Given the description of an element on the screen output the (x, y) to click on. 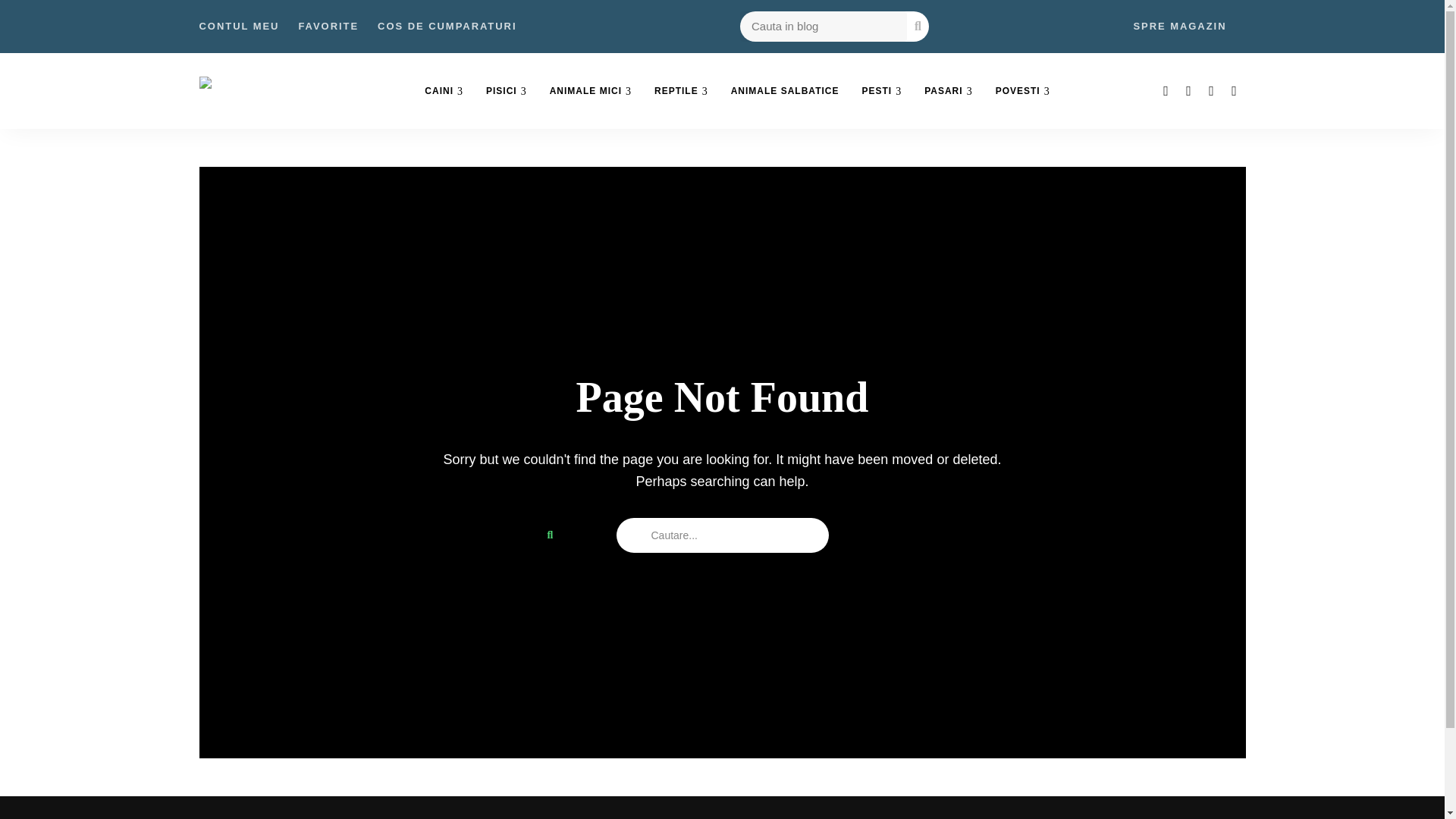
POVESTI (1022, 90)
REPTILE (681, 90)
SPRE MAGAZIN (1178, 26)
ANIMALE SALBATICE (784, 90)
ANIMALE MICI (590, 90)
PASARI (948, 90)
CONTUL MEU (238, 26)
COS DE CUMPARATURI (446, 26)
FAVORITE (328, 26)
